Given the description of an element on the screen output the (x, y) to click on. 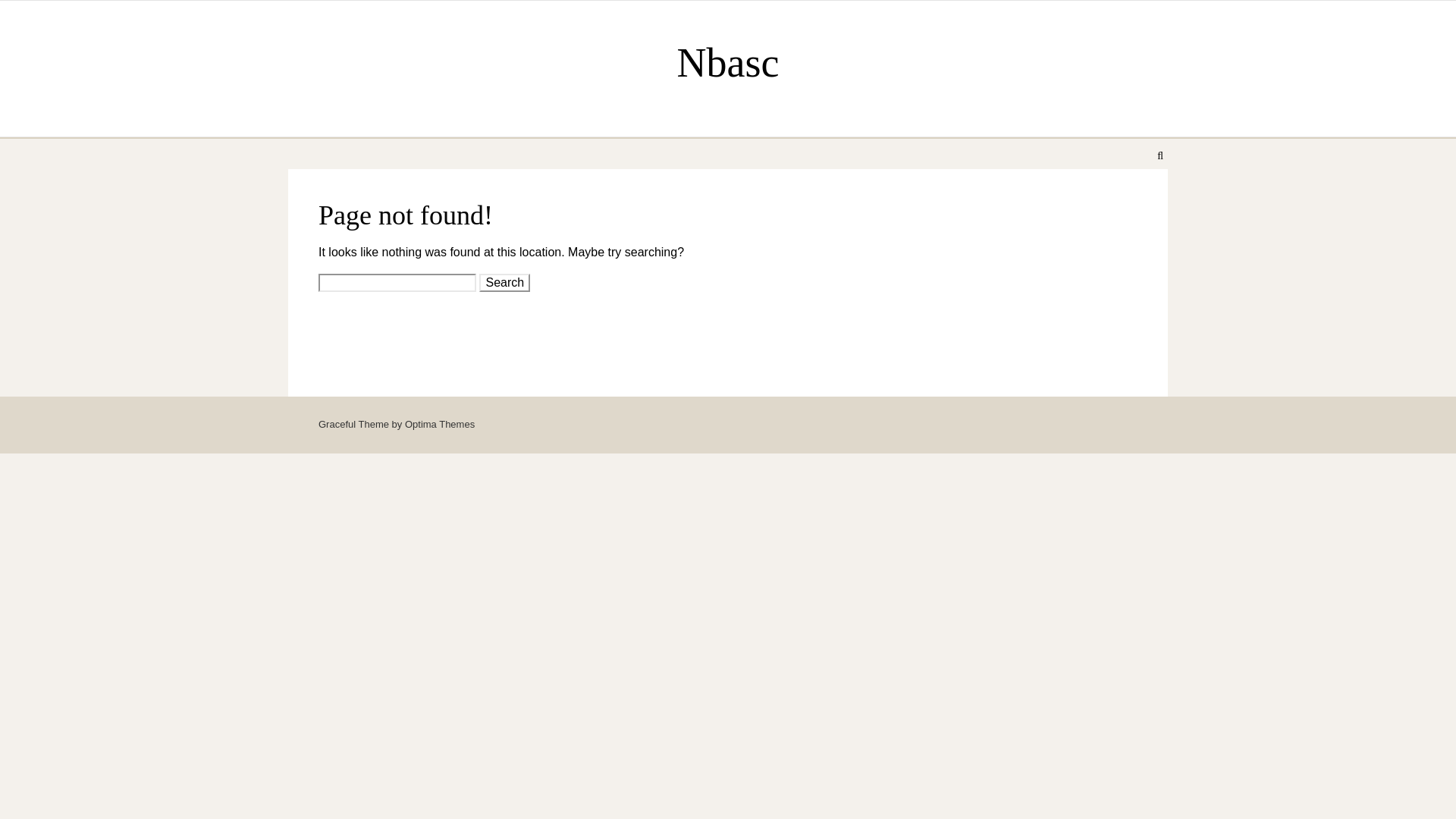
Optima Themes (439, 423)
Search (504, 282)
Nbasc (728, 62)
Search (504, 282)
